Given the description of an element on the screen output the (x, y) to click on. 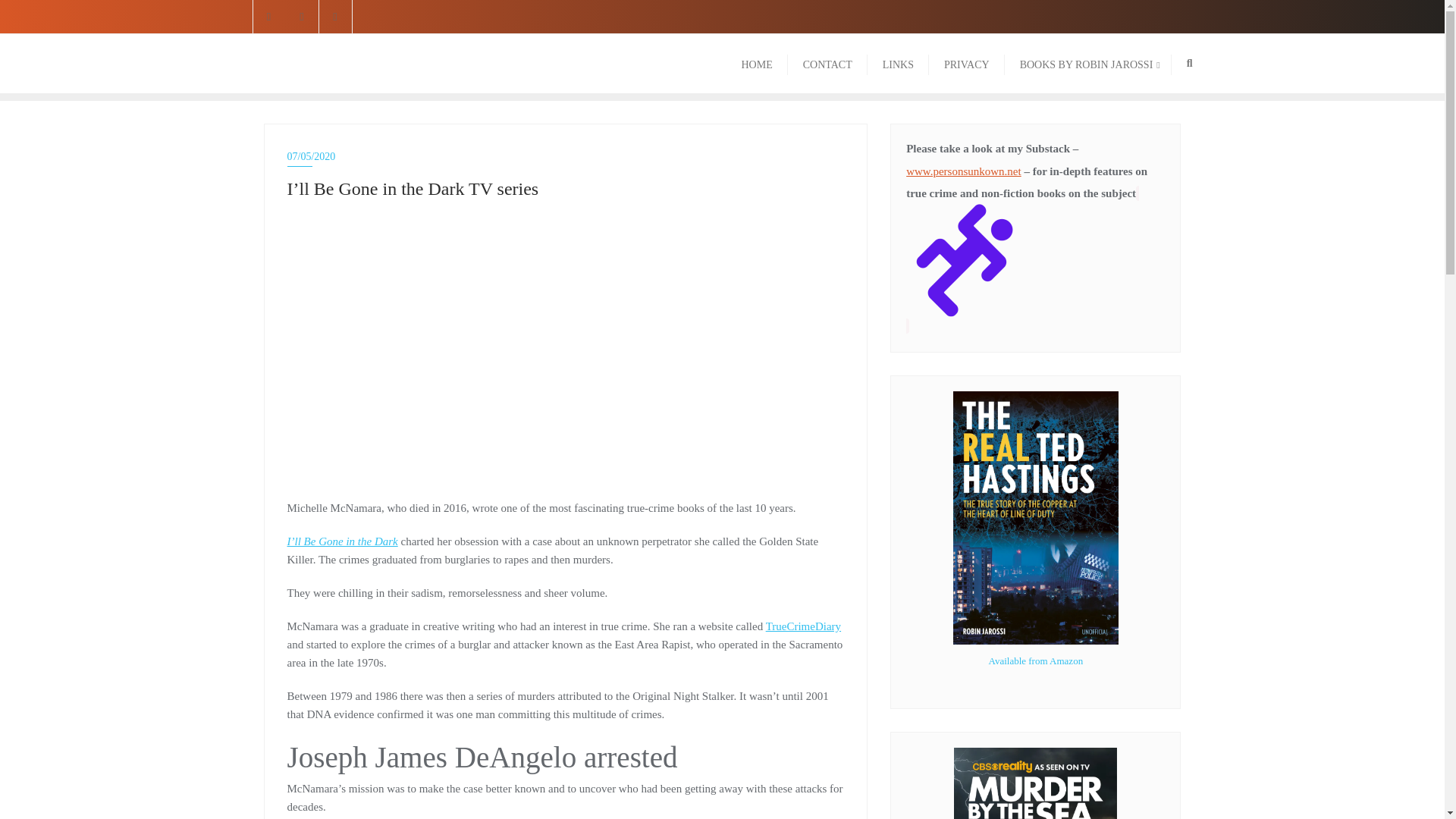
PRIVACY (966, 63)
HOME (756, 63)
TrueCrimeDiary (803, 625)
LINKS (897, 63)
BOOKS BY ROBIN JAROSSI (1088, 63)
CONTACT (370, 63)
